Given the description of an element on the screen output the (x, y) to click on. 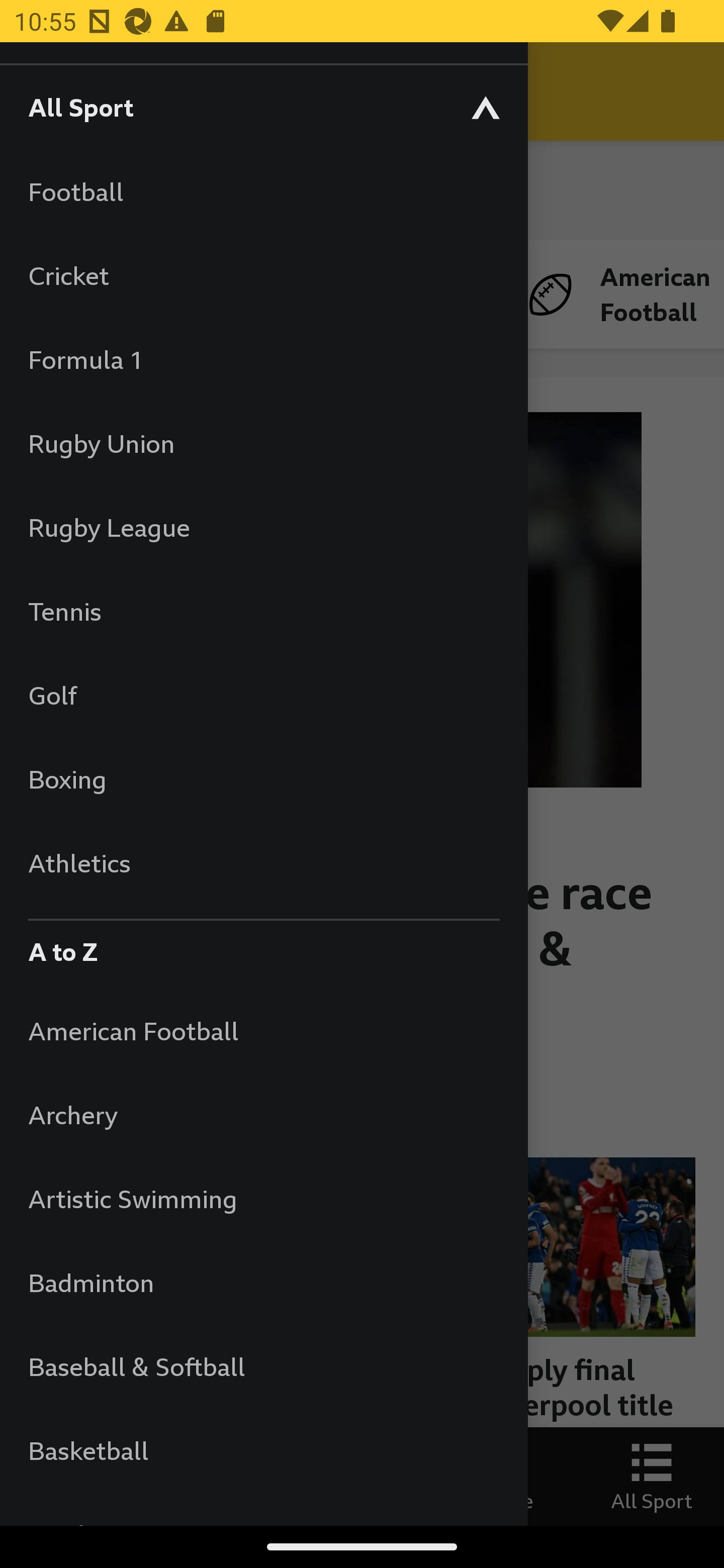
All Sport (263, 106)
Football (263, 190)
Cricket (263, 275)
Formula 1 (263, 358)
Rugby Union (263, 443)
Rugby League (263, 526)
Tennis (263, 611)
Golf (263, 694)
Boxing (263, 778)
Athletics (263, 862)
A to Z (263, 946)
American Football (263, 1029)
Archery (263, 1114)
Artistic Swimming (263, 1198)
Badminton (263, 1282)
Baseball & Softball (263, 1366)
Basketball (263, 1450)
